Given the description of an element on the screen output the (x, y) to click on. 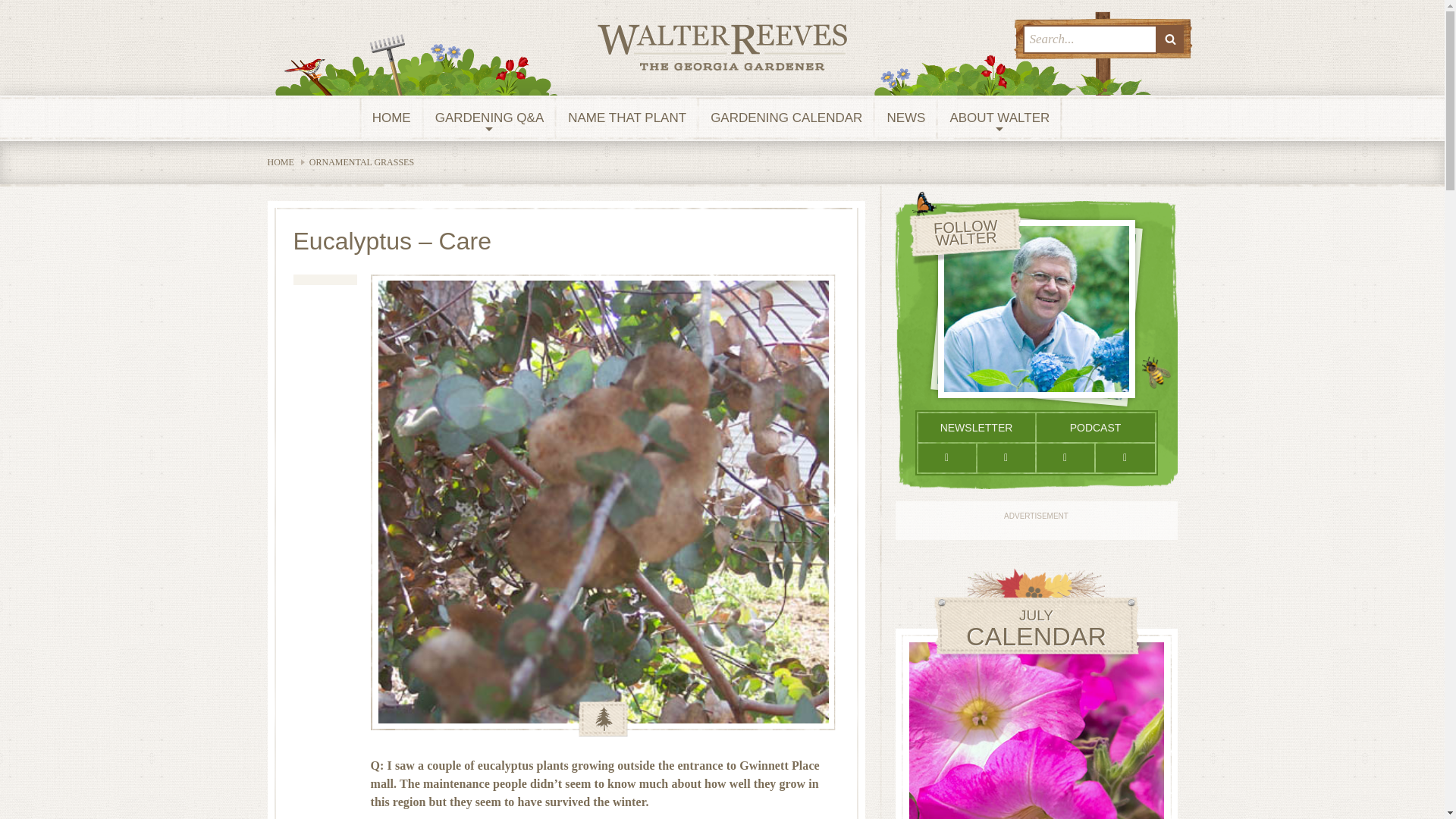
HOME (391, 117)
NEWS (906, 117)
NAME THAT PLANT (627, 117)
ABOUT WALTER (999, 117)
SEARCH (1170, 39)
GARDENING CALENDAR (786, 117)
Search for: (1089, 39)
